Given the description of an element on the screen output the (x, y) to click on. 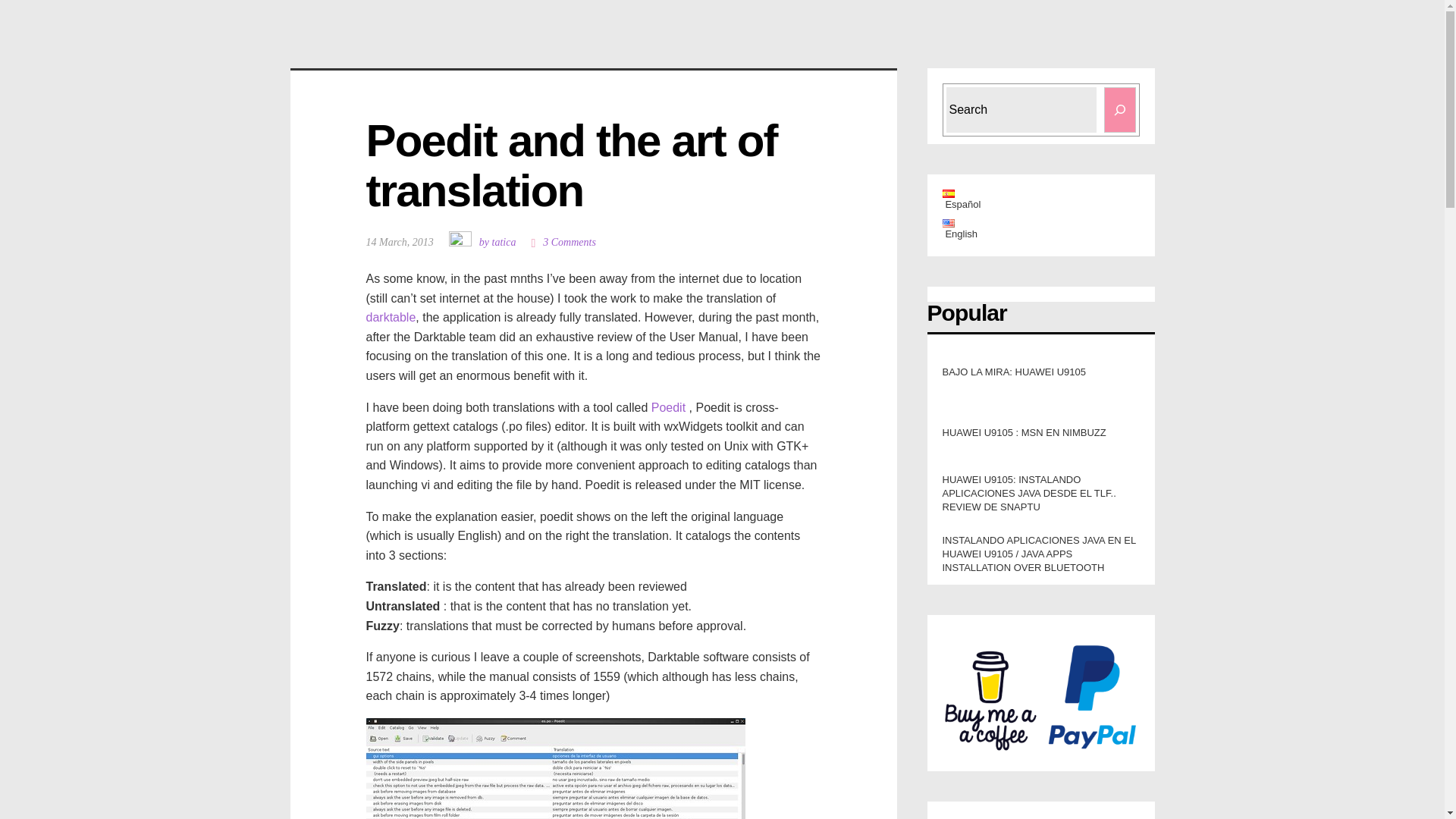
darktable (389, 317)
3 Comments (563, 243)
poedit (669, 407)
poedit: darktable translation (593, 768)
Poedit (669, 407)
by tatica (482, 241)
darktable (389, 317)
